Given the description of an element on the screen output the (x, y) to click on. 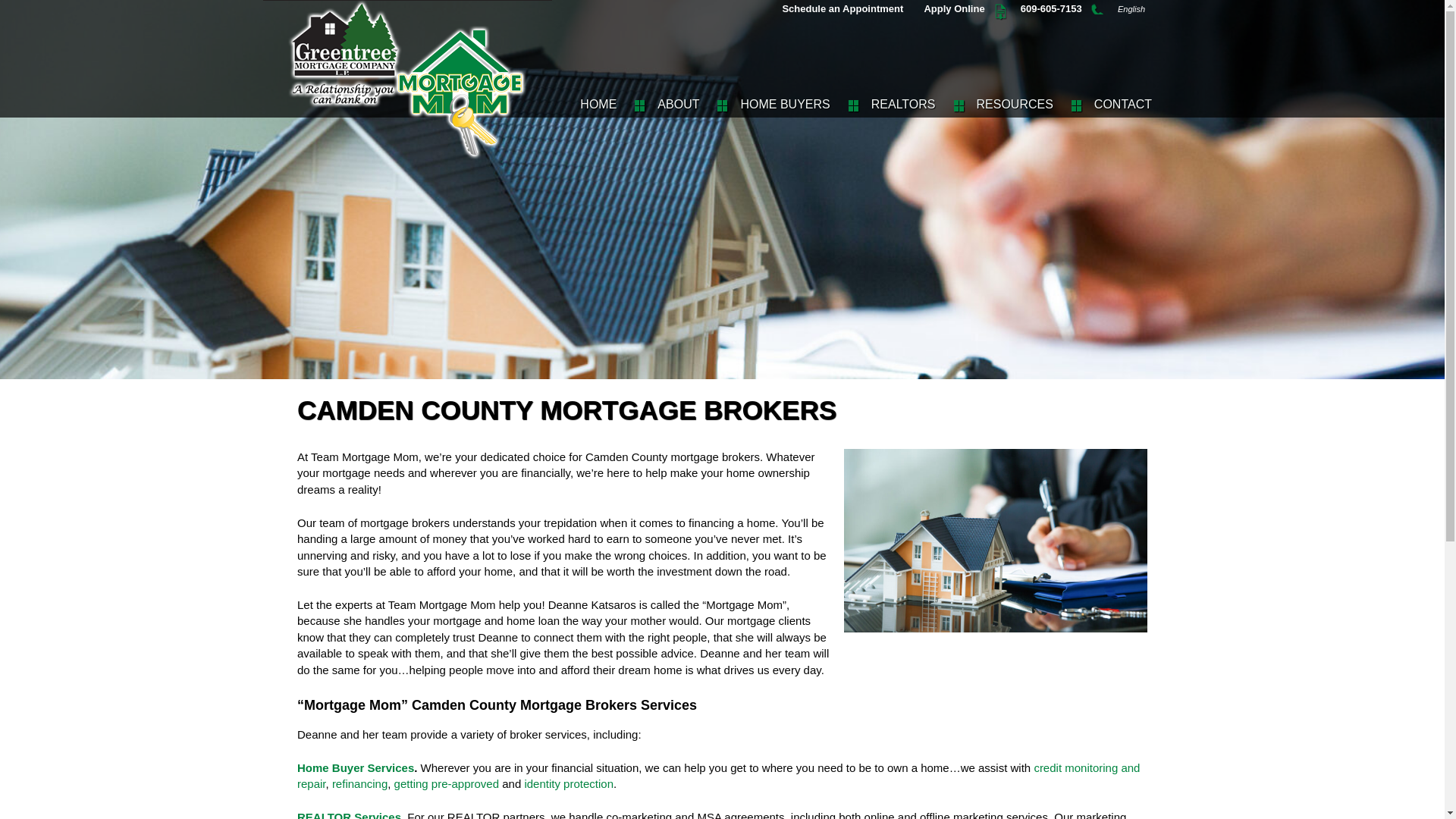
Home Buyer Services (355, 767)
credit monitoring and repair (718, 775)
609-605-7153 (1049, 8)
Apply Online (952, 8)
ABOUT (675, 99)
CONTACT (1120, 99)
Schedule an Appointment (841, 8)
English (1130, 8)
HOME BUYERS (782, 99)
REALTOR Services (349, 814)
